Given the description of an element on the screen output the (x, y) to click on. 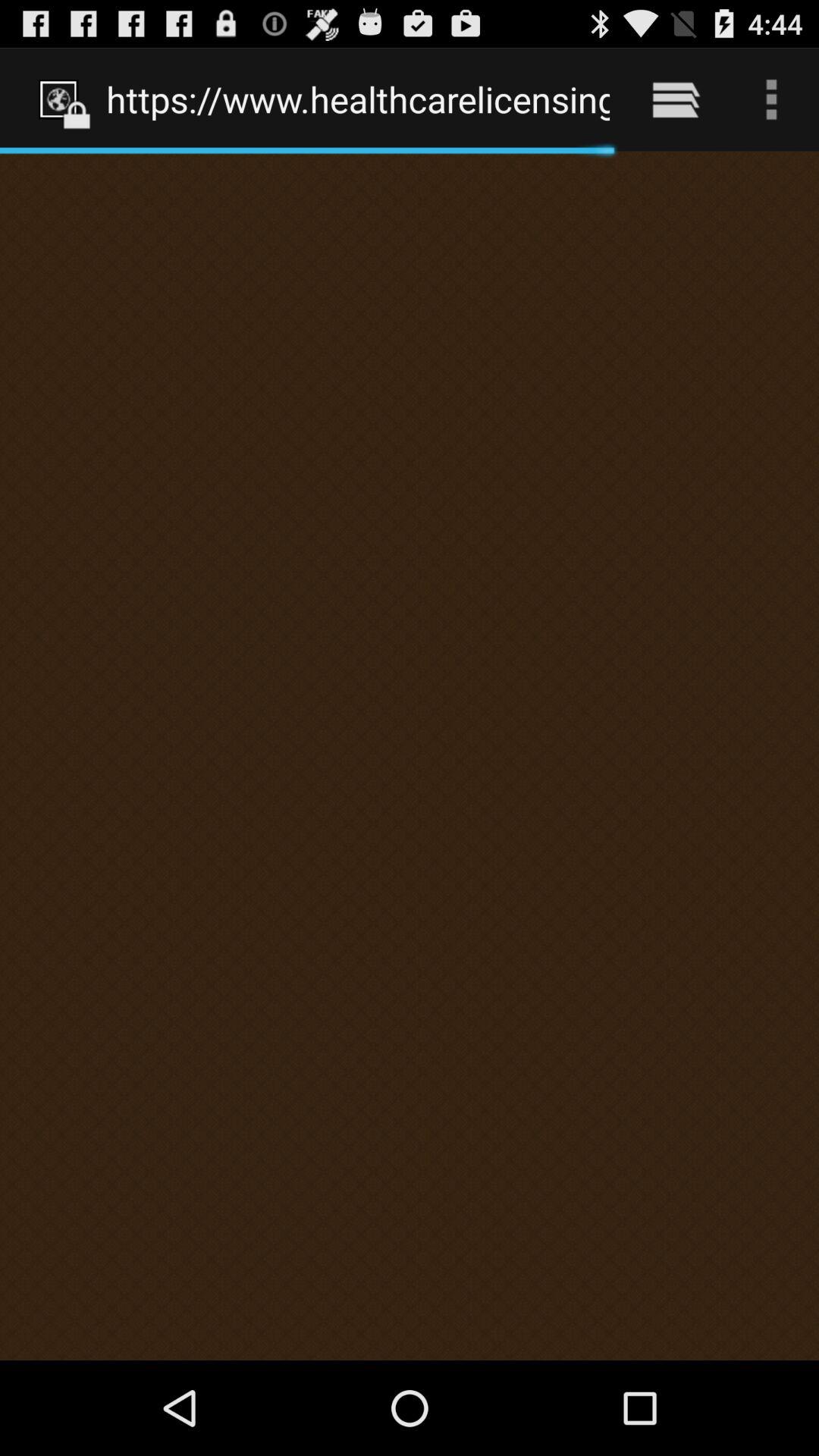
click icon below https www healthcarelicensing item (409, 755)
